Given the description of an element on the screen output the (x, y) to click on. 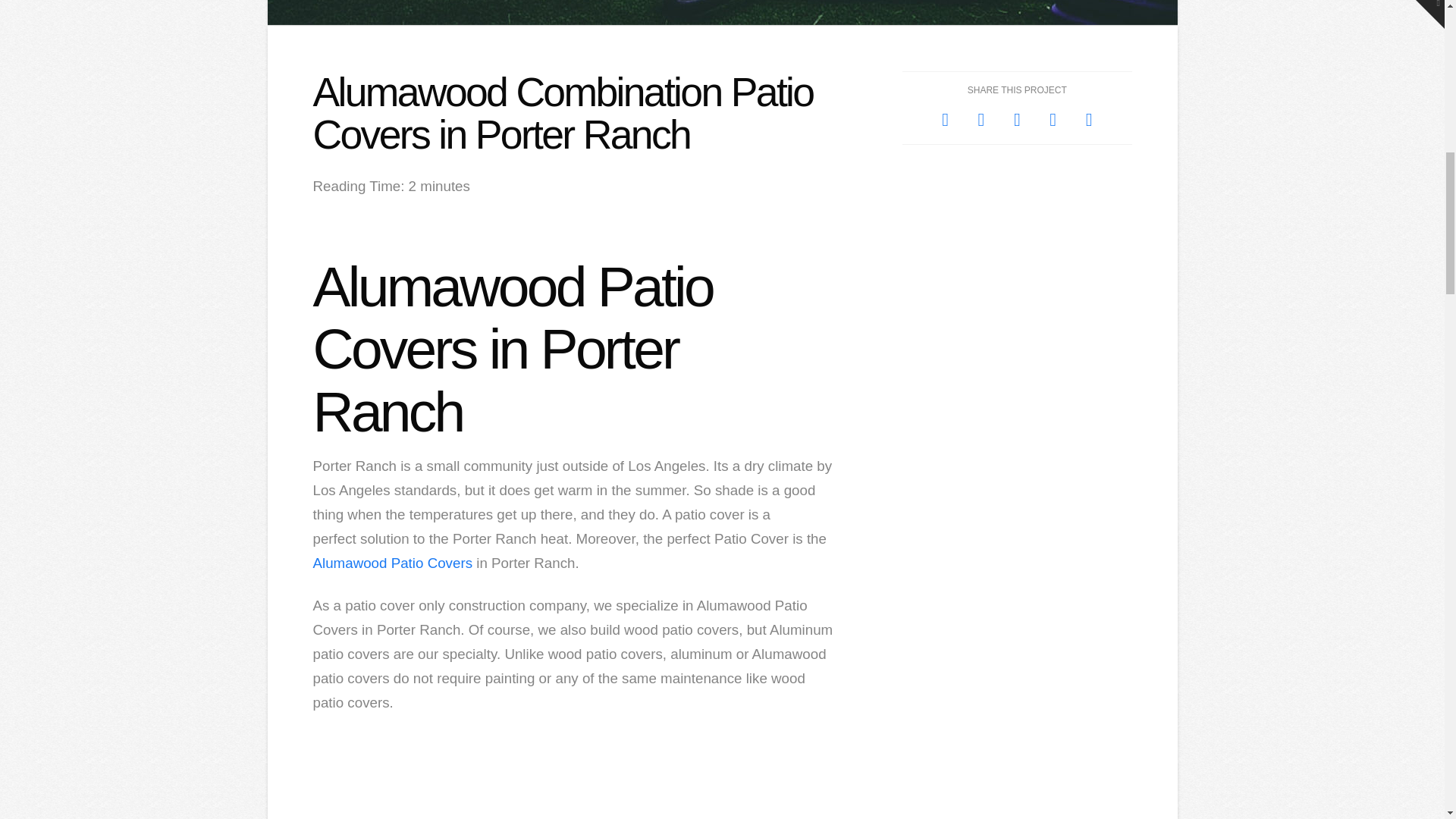
YouTube player (574, 776)
